Given the description of an element on the screen output the (x, y) to click on. 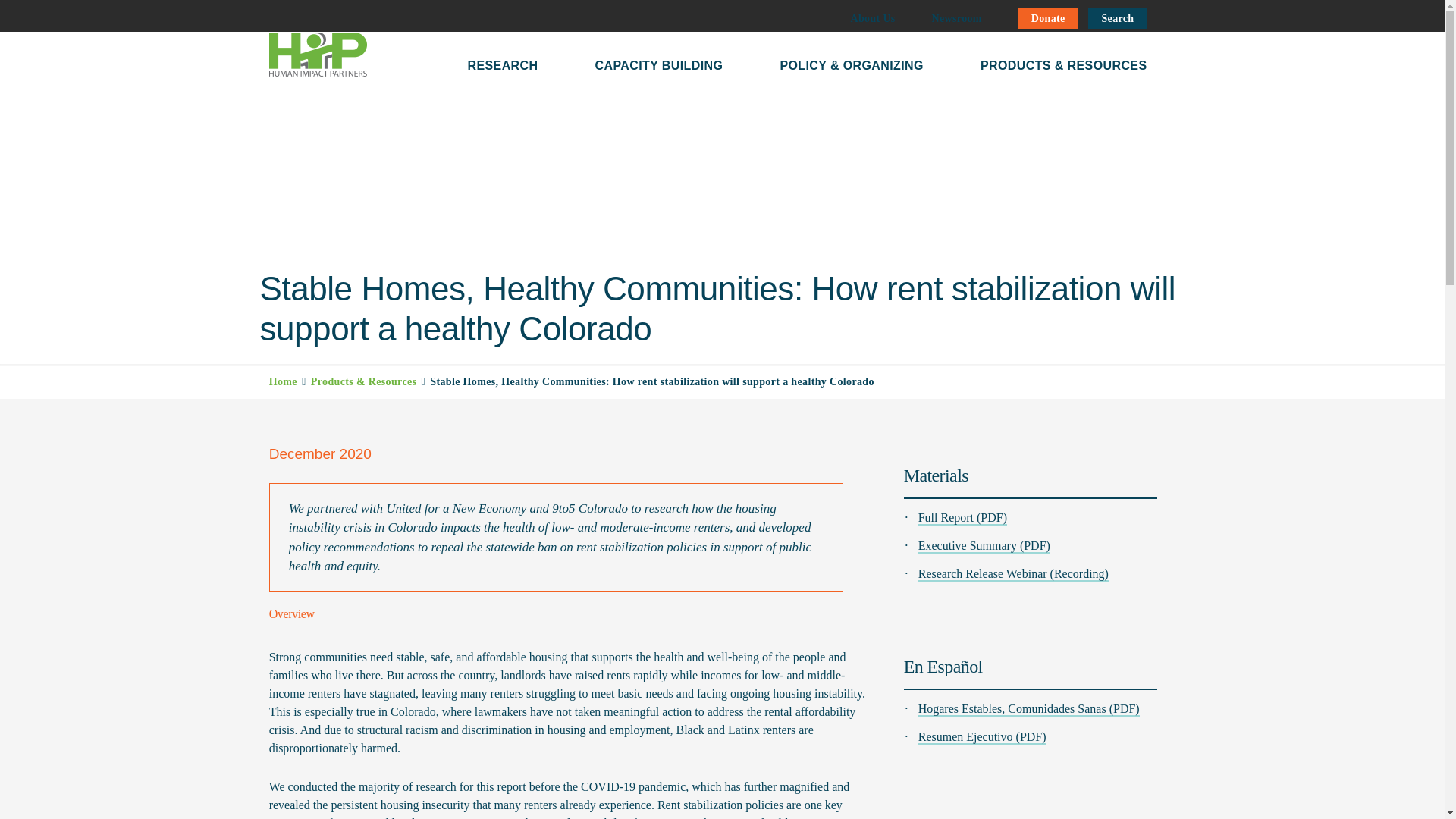
CAPACITY BUILDING (658, 62)
Donate (1047, 18)
Newsroom (956, 18)
Search (1117, 18)
About Us (872, 18)
Home (283, 381)
Human Impact Partners (316, 55)
RESEARCH (502, 62)
